Given the description of an element on the screen output the (x, y) to click on. 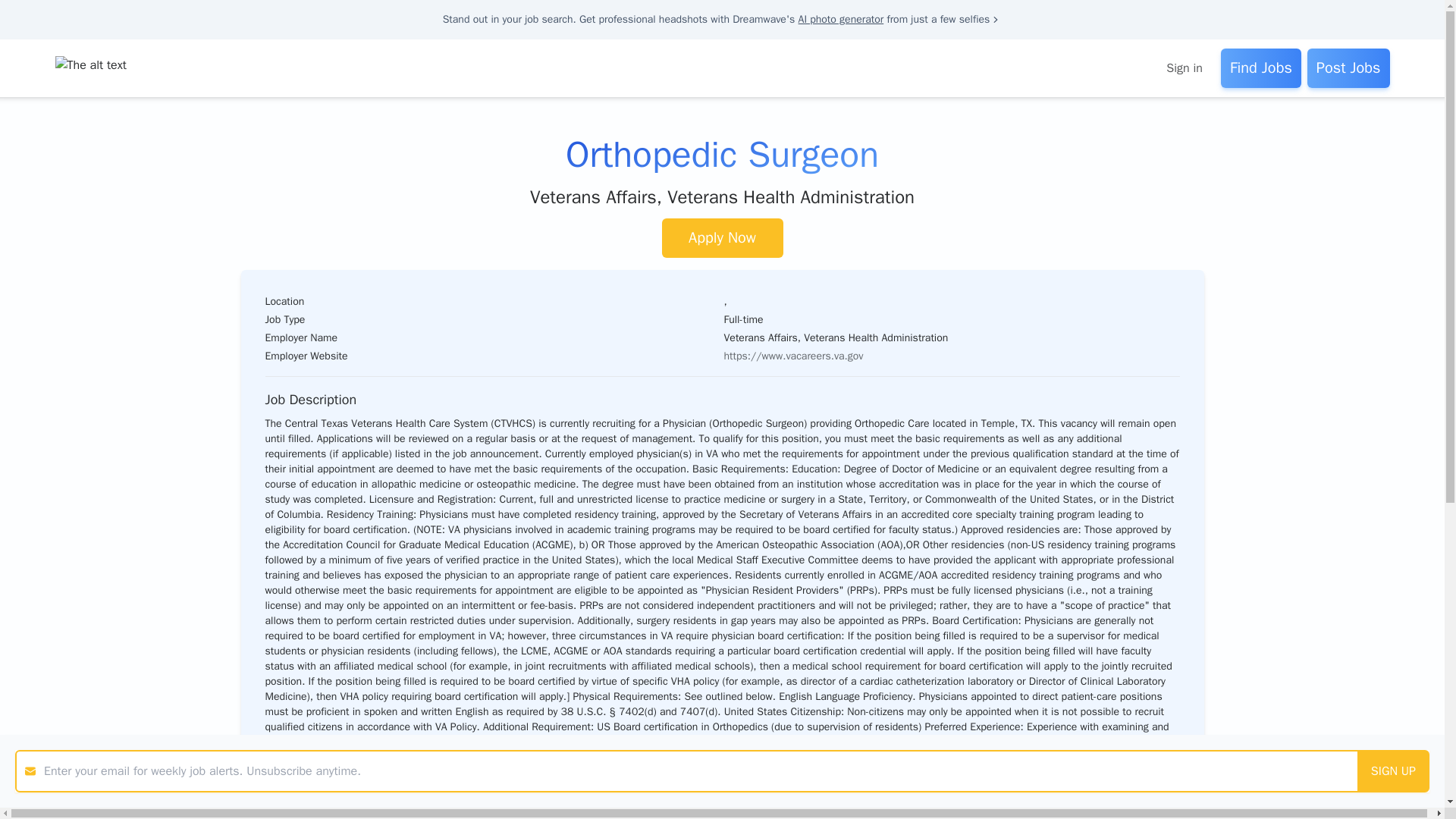
AI photo generator (840, 19)
SIGN UP (1392, 771)
Veterans Affairs, Veterans Health Administration (721, 196)
Post Jobs (1348, 67)
Dreamwave's (763, 19)
Find Jobs (1261, 67)
